Given the description of an element on the screen output the (x, y) to click on. 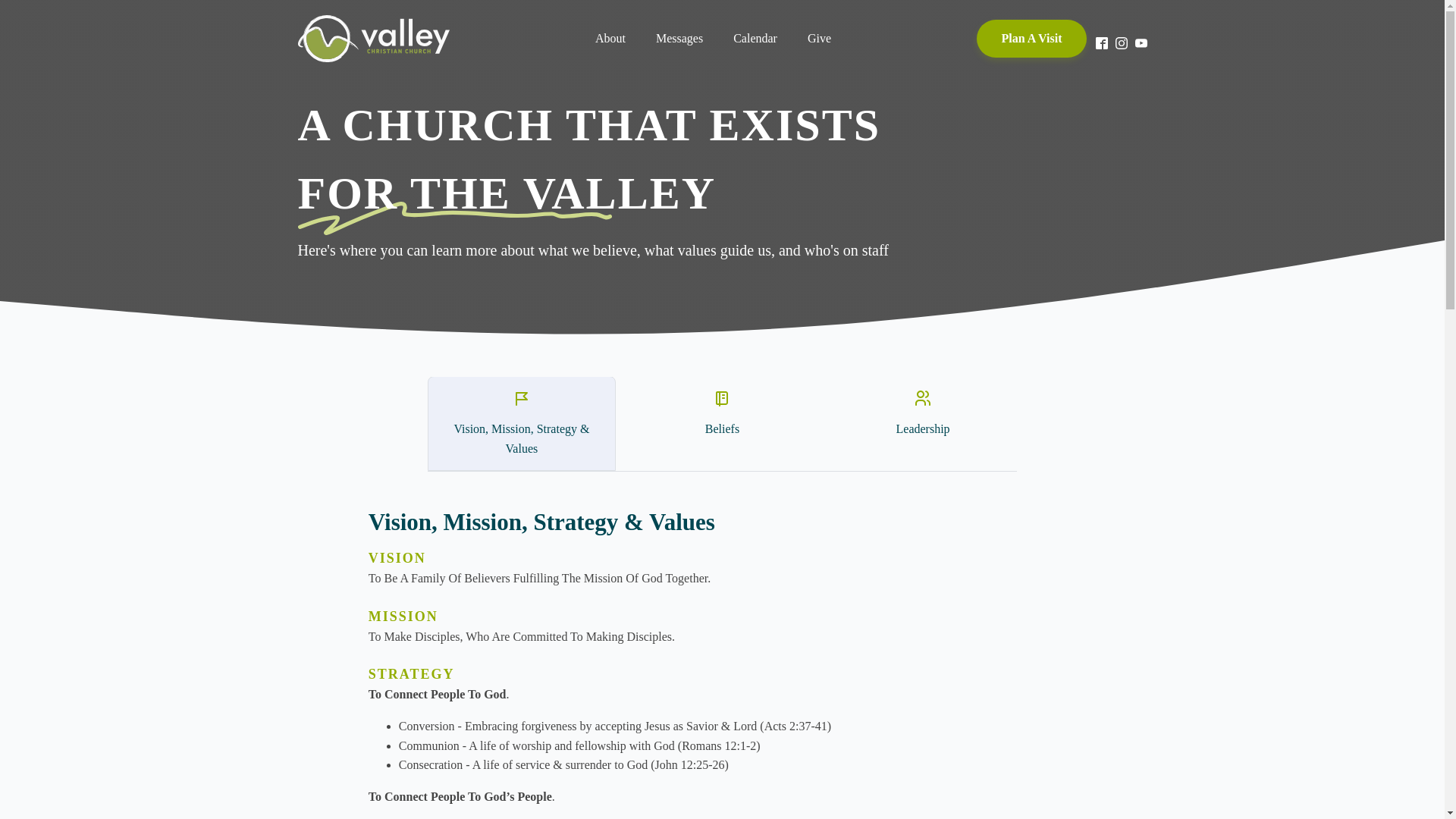
Give (818, 38)
Messages (678, 38)
Calendar (754, 38)
Plan A Visit (1031, 38)
About (609, 38)
